Given the description of an element on the screen output the (x, y) to click on. 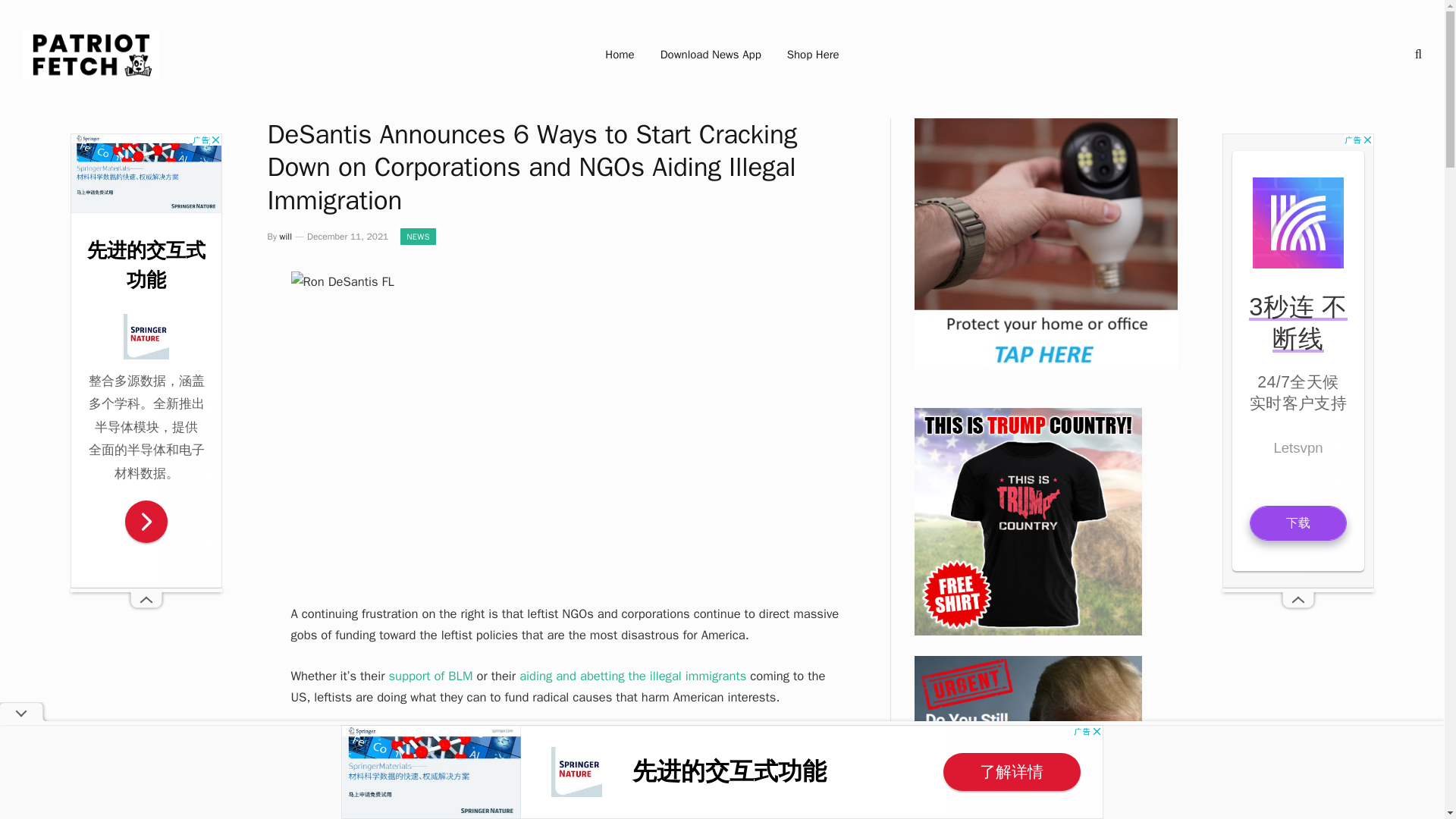
aiding and abetting the illegal immigrants (632, 675)
Posts by will (285, 236)
NEWS (417, 236)
Download News App (710, 54)
Shop Here (812, 54)
support of BLM (429, 675)
will (285, 236)
